Given the description of an element on the screen output the (x, y) to click on. 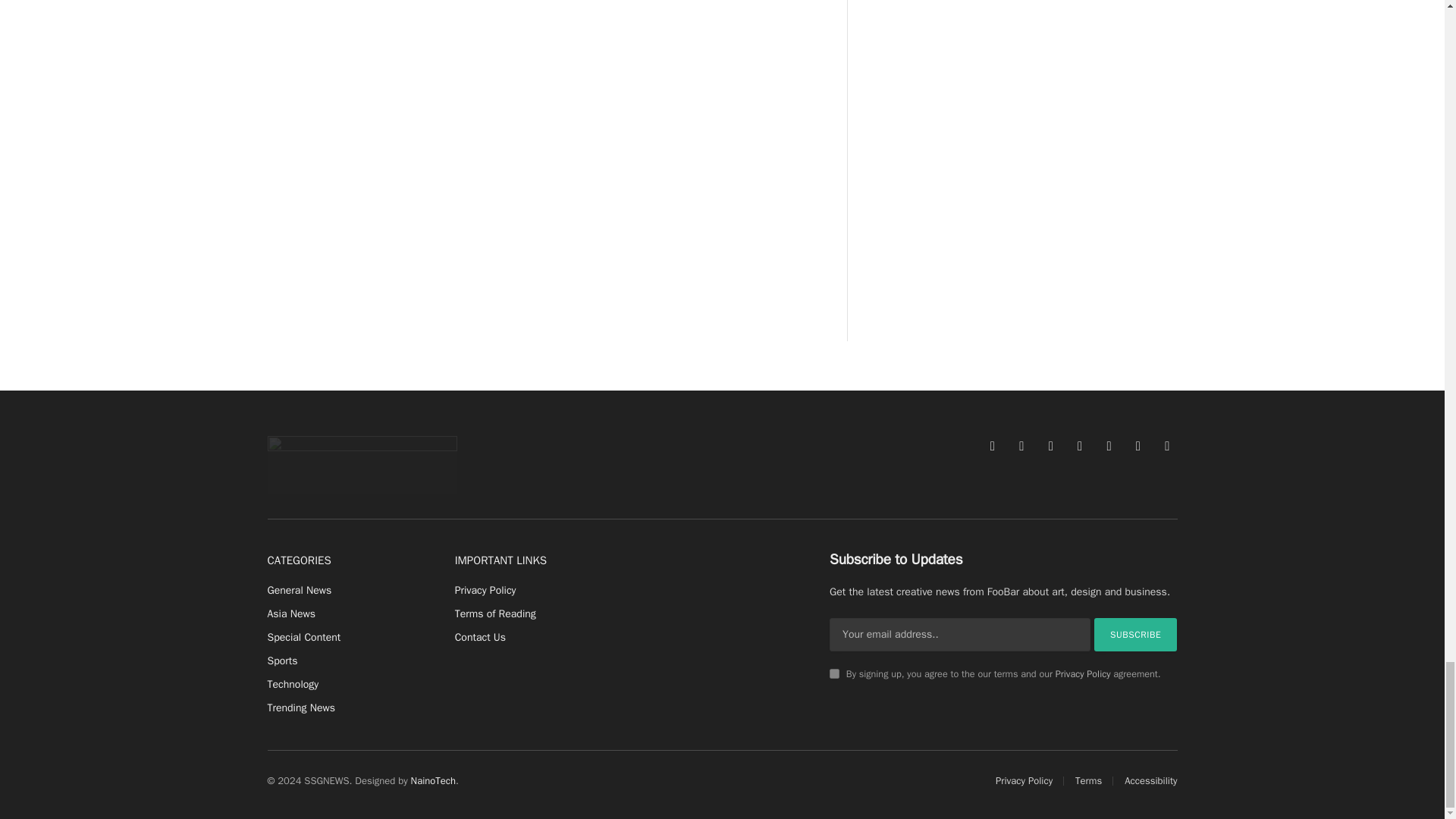
Subscribe (1135, 634)
on (834, 673)
